Given the description of an element on the screen output the (x, y) to click on. 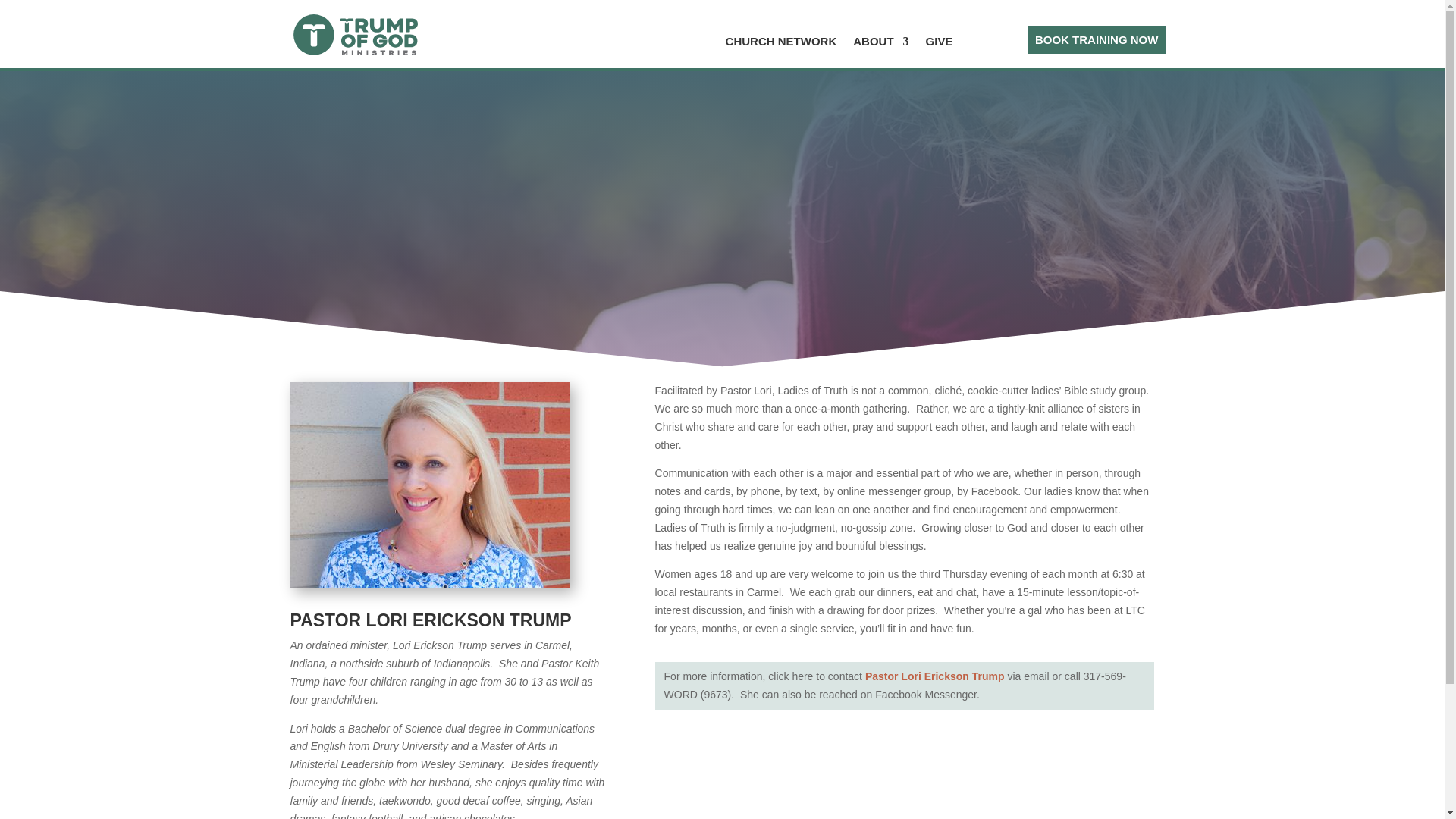
ABOUT (880, 44)
Lori Trump (429, 485)
CHURCH NETWORK (781, 44)
TrumpOfGodMain (357, 35)
Pastor Lori Erickson Trump (934, 676)
BOOK TRAINING NOW (1096, 39)
GIVE (939, 44)
